Given the description of an element on the screen output the (x, y) to click on. 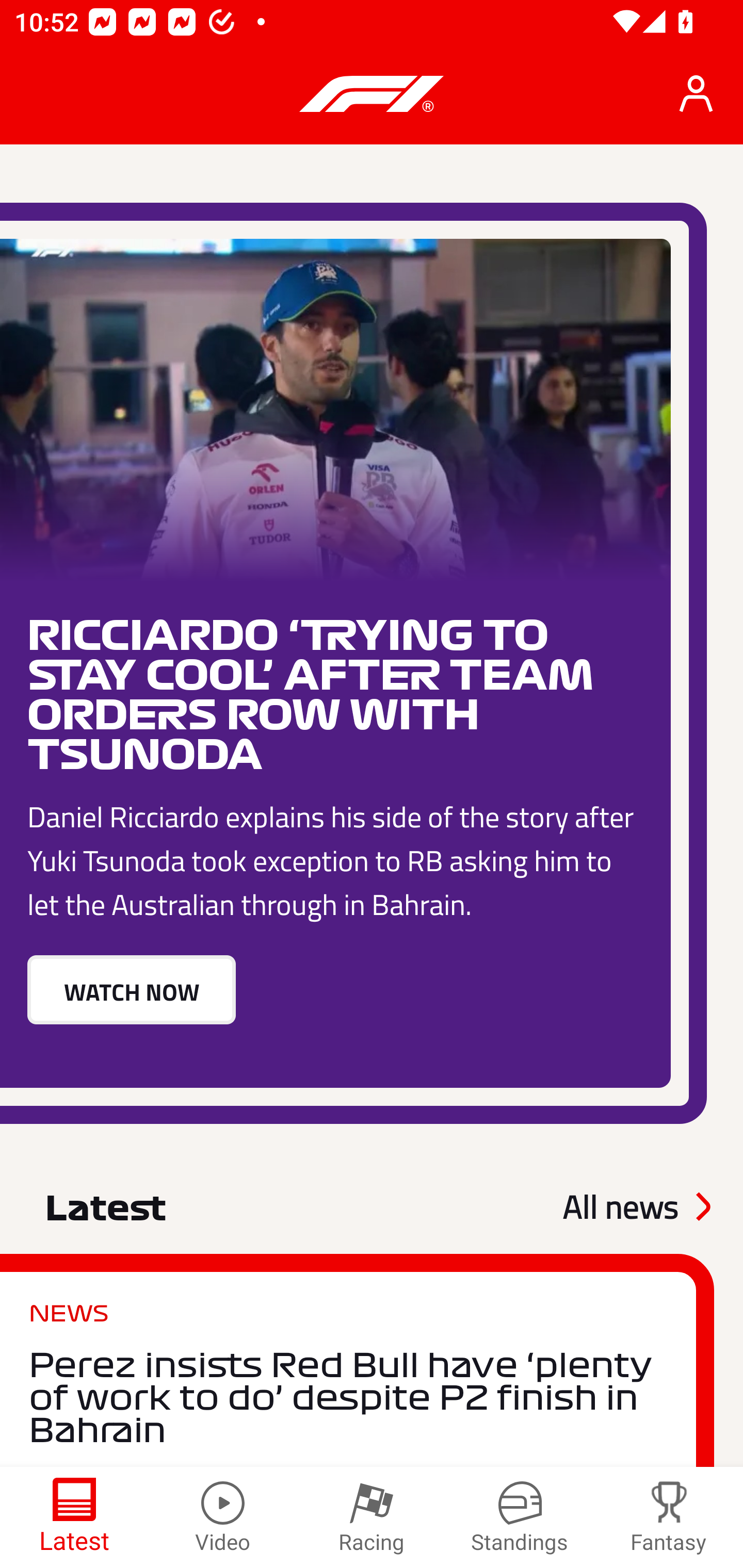
WATCH NOW (131, 988)
All news See all (635, 1207)
Video (222, 1517)
Racing (371, 1517)
Standings (519, 1517)
Fantasy (668, 1517)
